Given the description of an element on the screen output the (x, y) to click on. 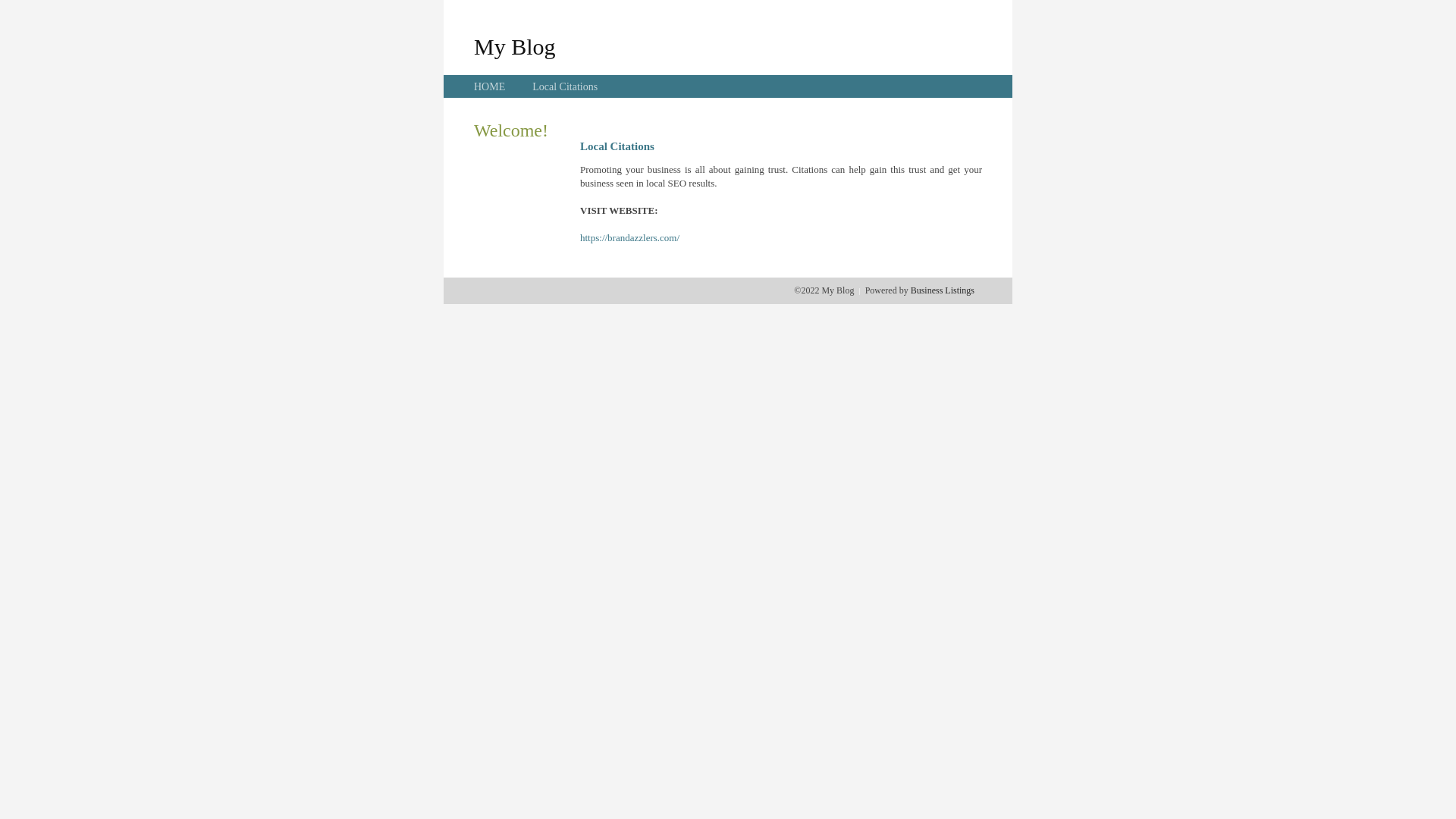
My Blog Element type: text (514, 46)
HOME Element type: text (489, 86)
Business Listings Element type: text (942, 290)
Local Citations Element type: text (564, 86)
https://brandazzlers.com/ Element type: text (629, 237)
